Given the description of an element on the screen output the (x, y) to click on. 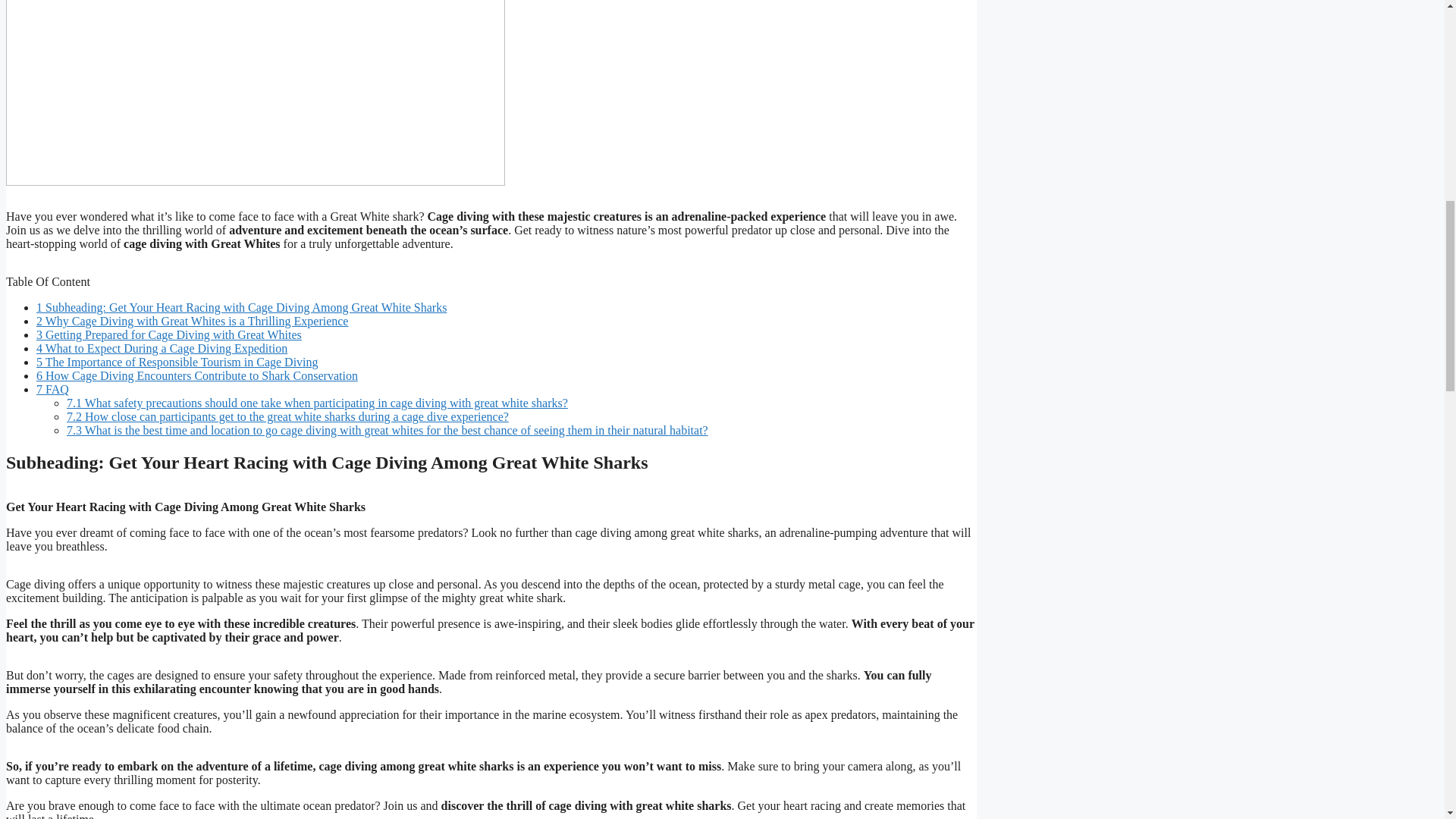
7 FAQ (52, 389)
3 Getting Prepared for Cage Diving with Great Whites (168, 334)
4 What to Expect During a Cage Diving Expedition (161, 348)
5 The Importance of Responsible Tourism in Cage Diving (177, 361)
